Given the description of an element on the screen output the (x, y) to click on. 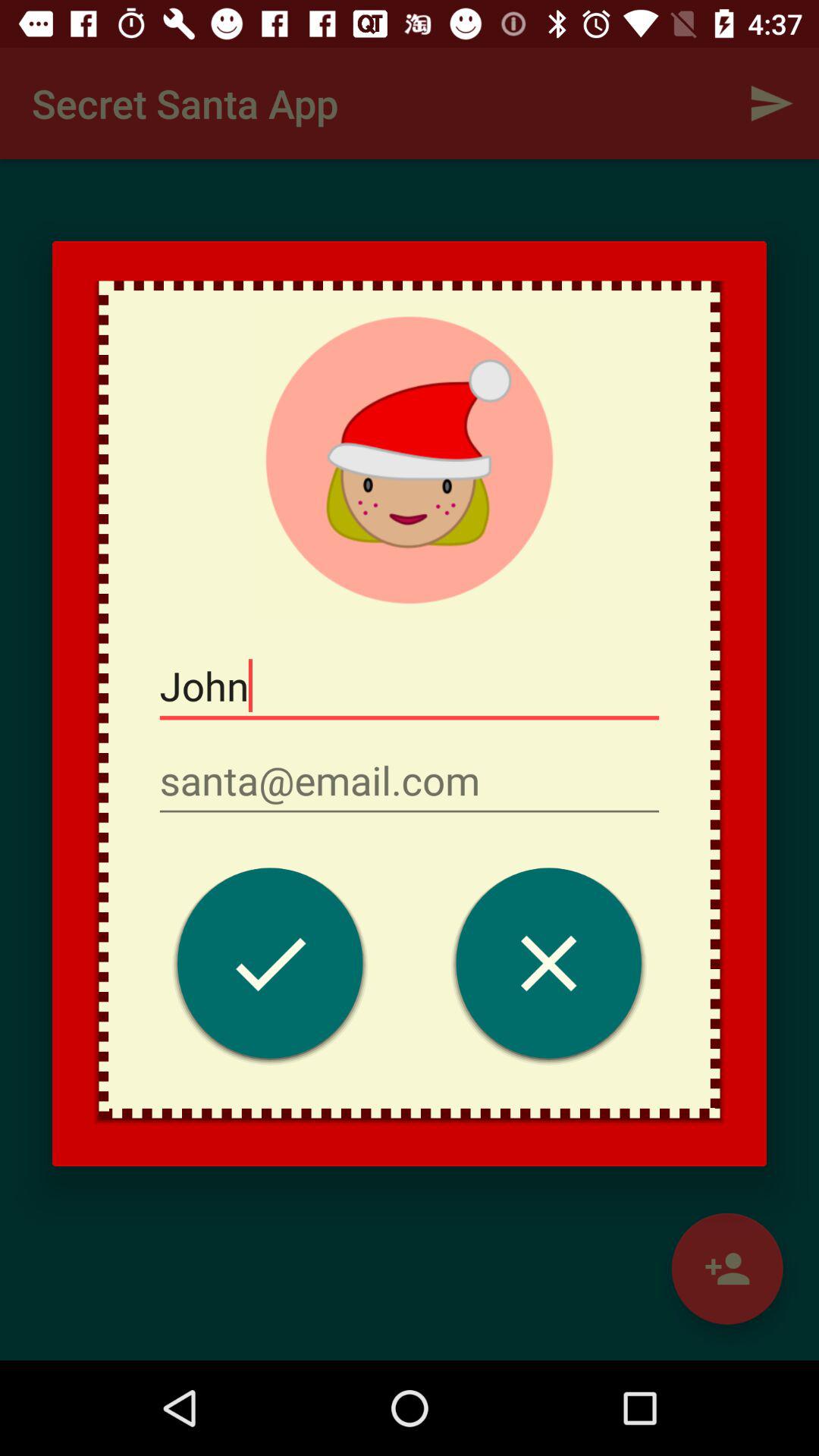
enter email (409, 780)
